Given the description of an element on the screen output the (x, y) to click on. 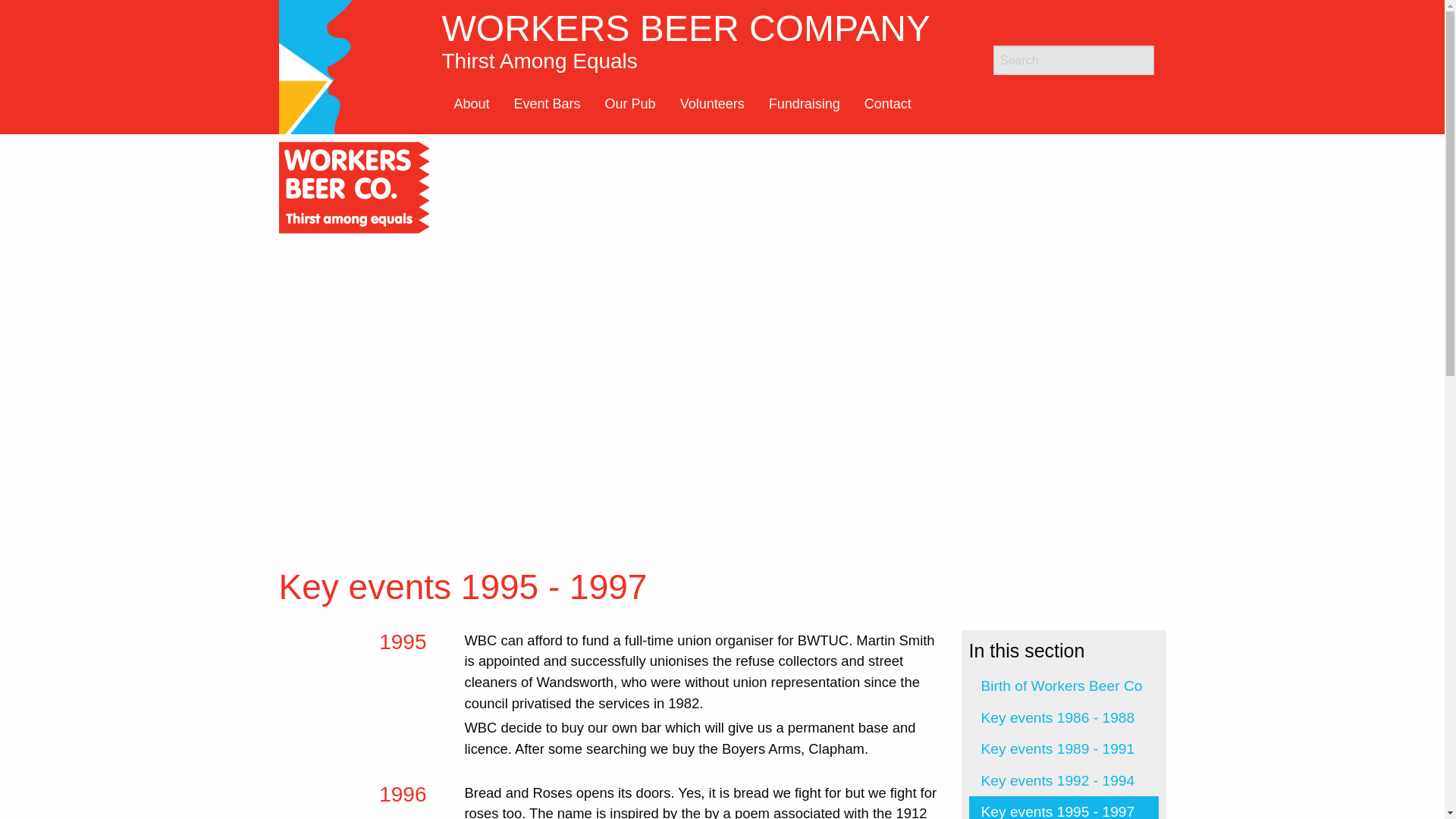
Volunteers (712, 103)
Fundraising (804, 103)
Our Pub (705, 40)
Key events 1995 - 1997 (630, 103)
Birth of Workers Beer Co (1063, 807)
Key events 1992 - 1994 (1063, 685)
Contact (1063, 780)
Key events 1986 - 1988 (887, 103)
Key events 1989 - 1991 (1063, 717)
